Given the description of an element on the screen output the (x, y) to click on. 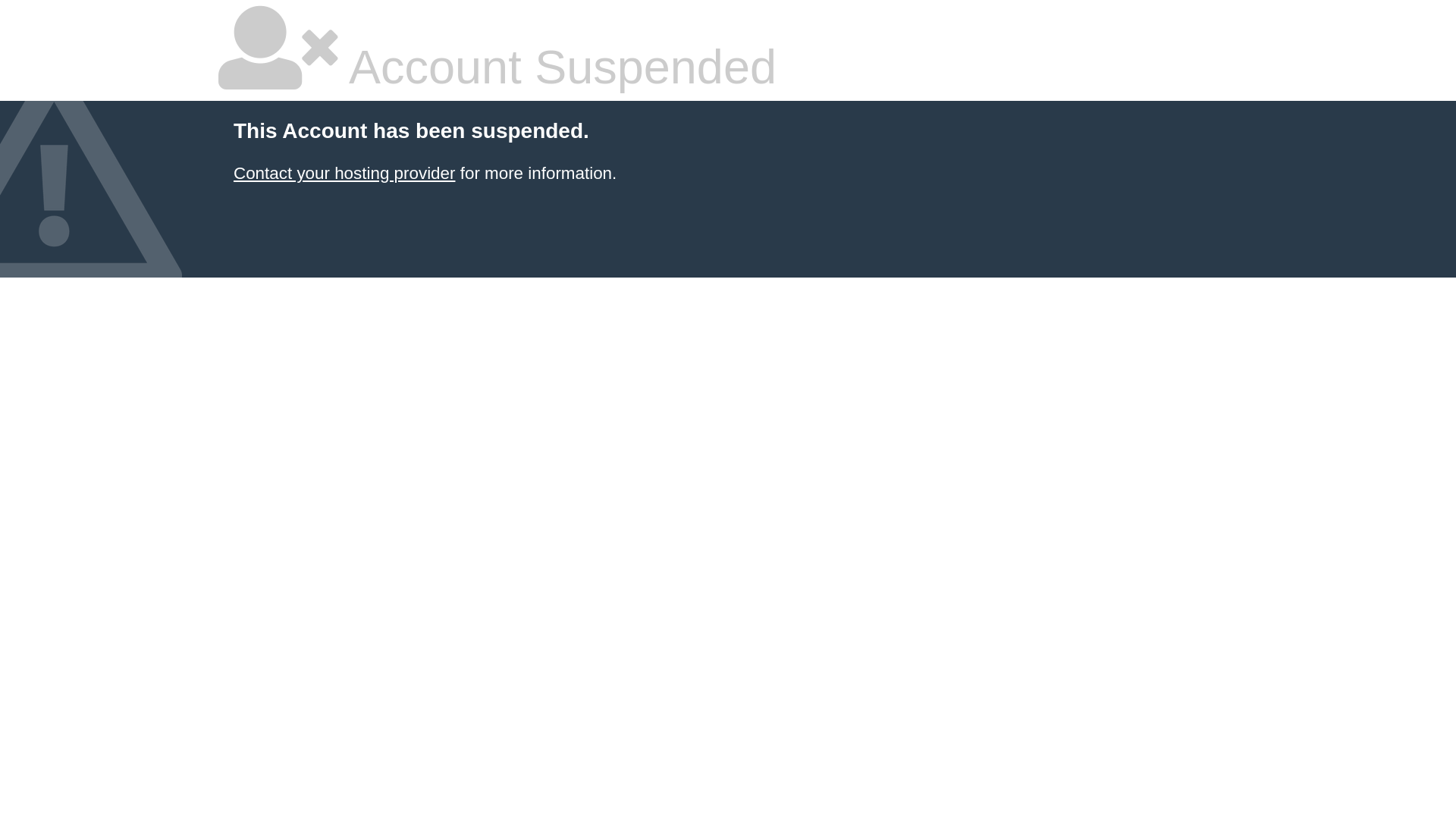
Contact your hosting provider Element type: text (344, 172)
